Given the description of an element on the screen output the (x, y) to click on. 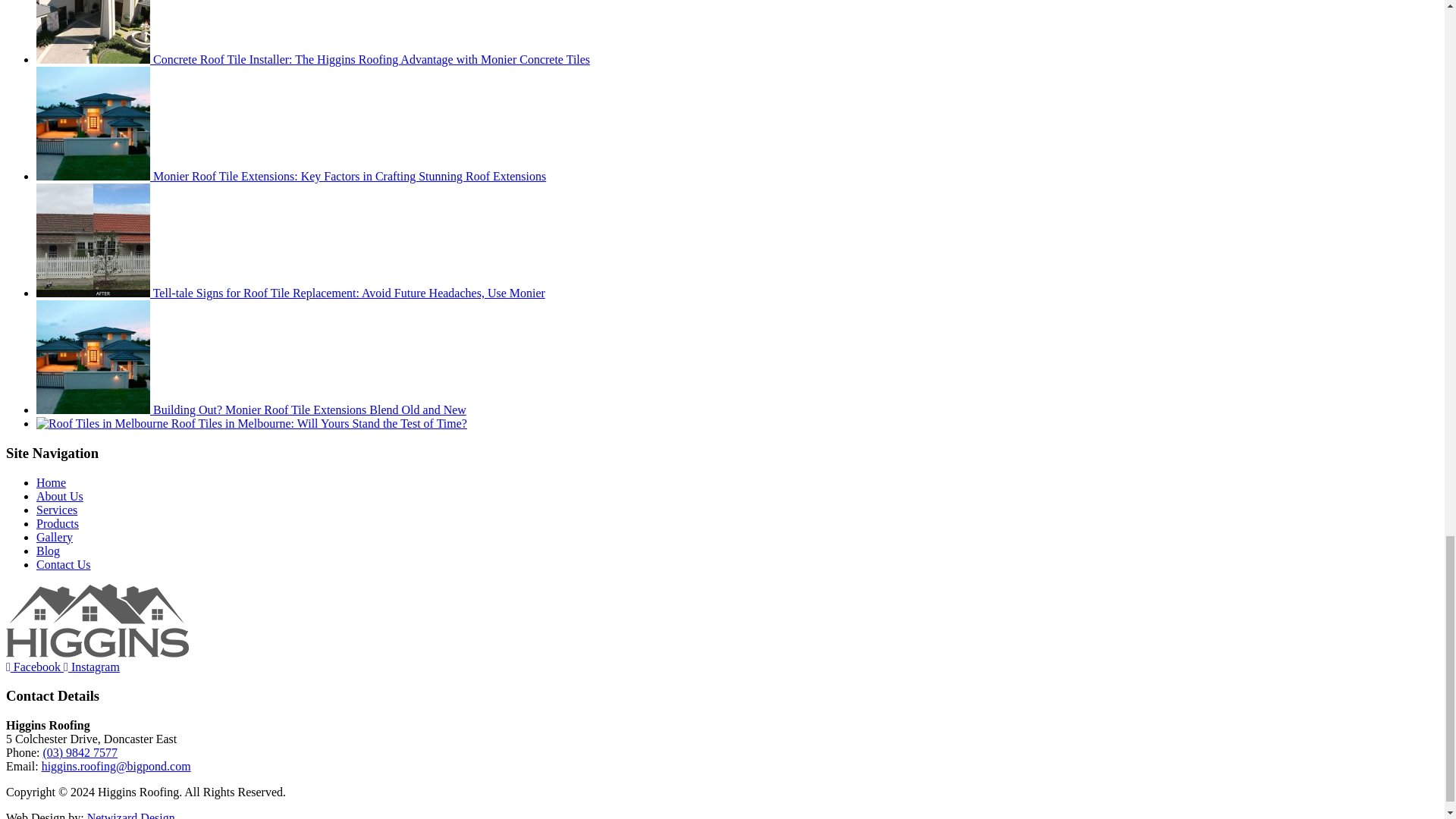
Products (57, 522)
Services (56, 509)
Blog (47, 550)
About Us (59, 495)
Facebook (34, 666)
Contact Us (63, 563)
Gallery (54, 536)
Building Out? Monier Roof Tile Extensions Blend Old and New (250, 409)
Roof Tiles in Melbourne: Will Yours Stand the Test of Time? (251, 422)
Home (50, 481)
Instagram (91, 666)
